Given the description of an element on the screen output the (x, y) to click on. 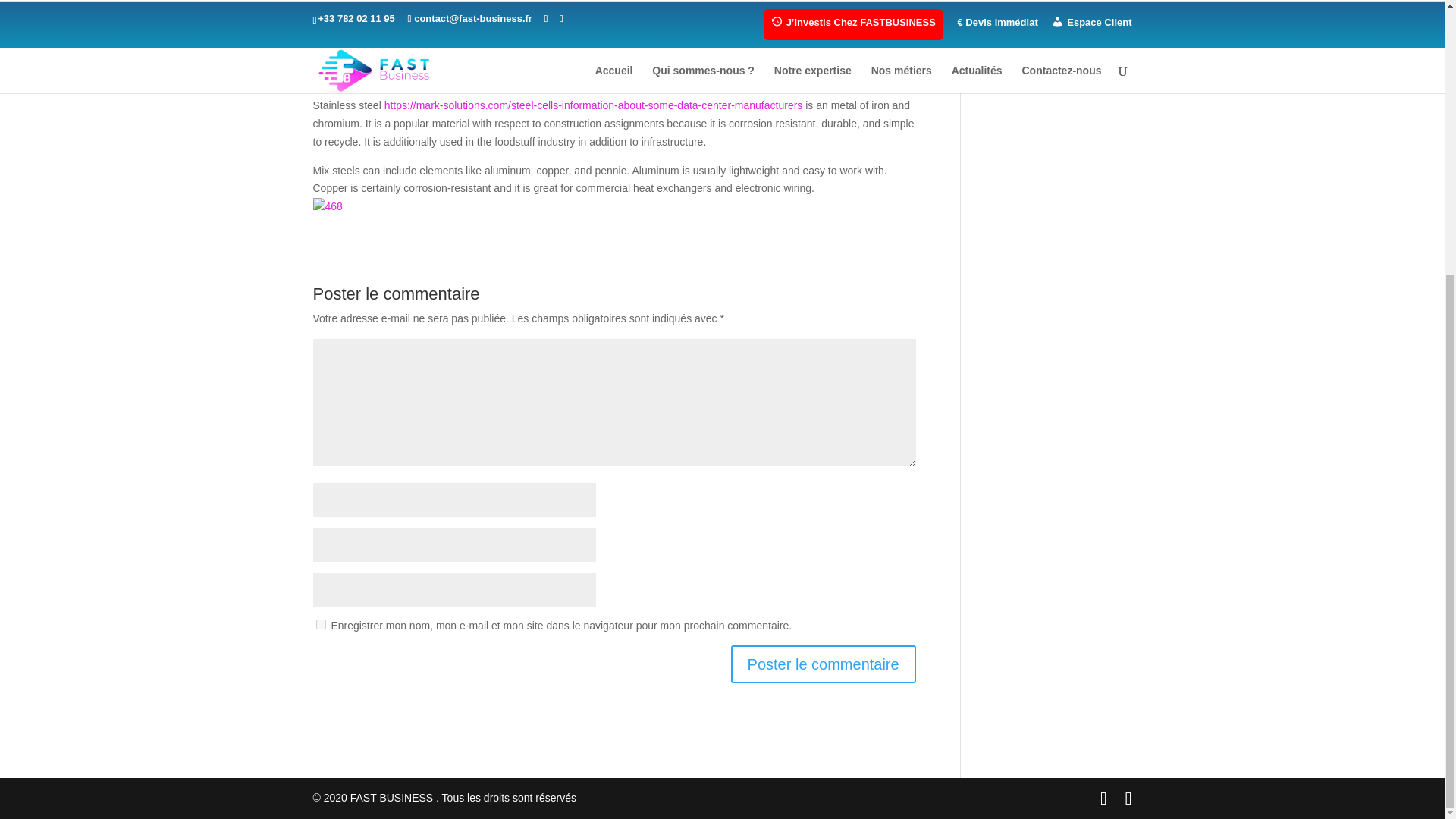
yes (319, 624)
Poster le commentaire (822, 664)
Poster le commentaire (822, 664)
